Given the description of an element on the screen output the (x, y) to click on. 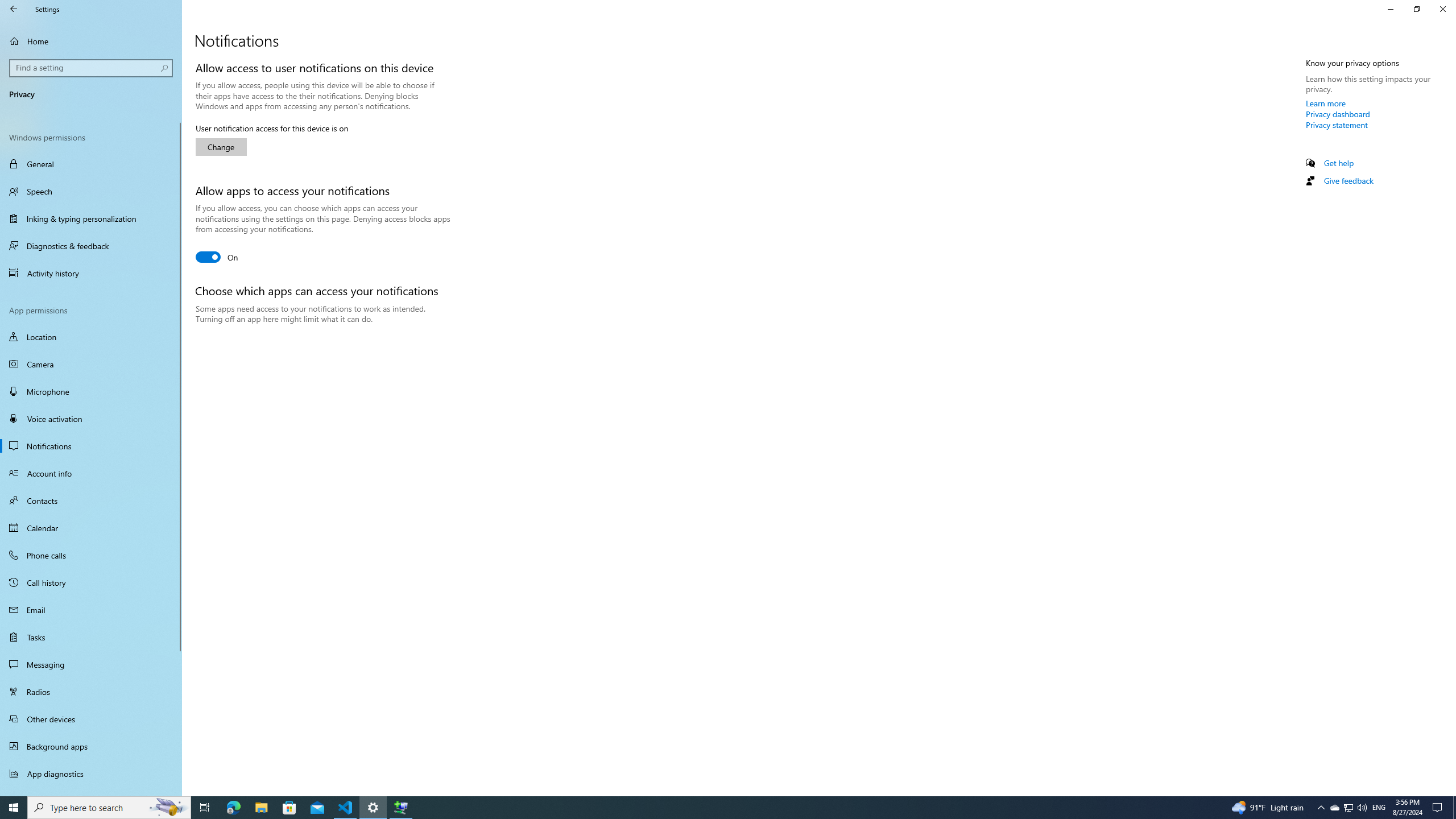
Change (221, 146)
Call history (91, 582)
Microphone (91, 390)
Email (91, 609)
Automatic file downloads (91, 791)
Calendar (91, 527)
General (91, 163)
Activity history (91, 272)
